Given the description of an element on the screen output the (x, y) to click on. 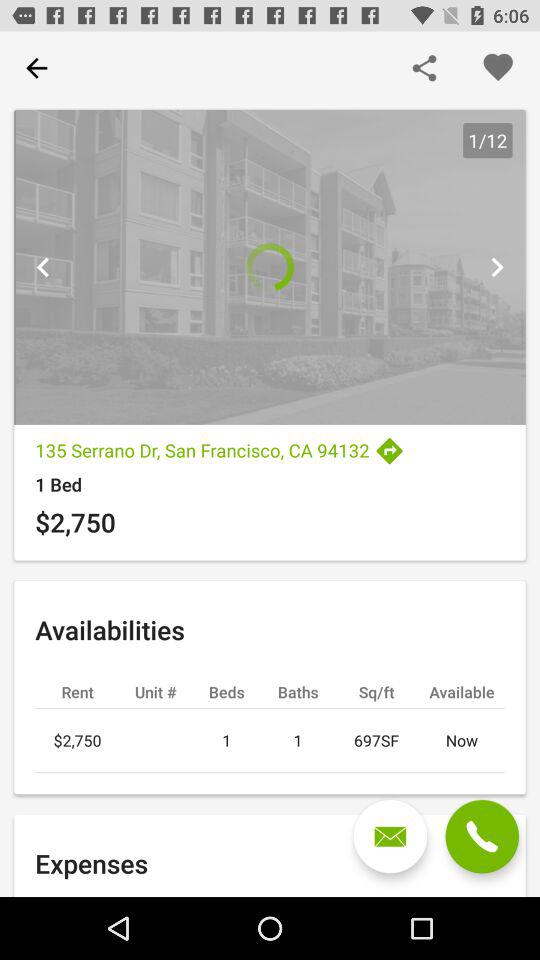
message icon (389, 836)
